Given the description of an element on the screen output the (x, y) to click on. 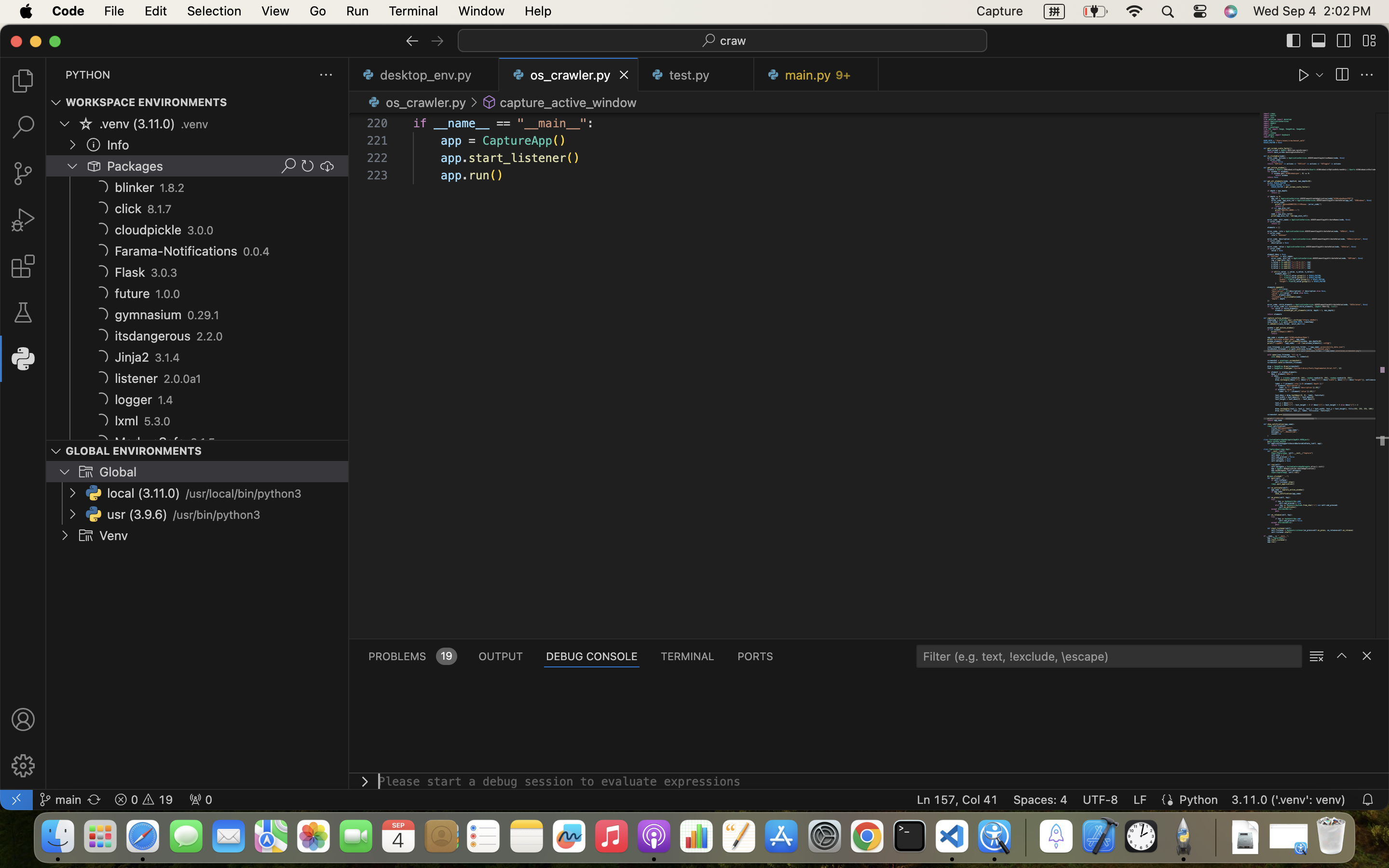
os_crawler.py  Element type: AXGroup (415, 101)
 Element type: AXButton (412, 40)
cloudpickle Element type: AXStaticText (148, 229)
Info Element type: AXStaticText (118, 144)
 Element type: AXStaticText (85, 534)
